Given the description of an element on the screen output the (x, y) to click on. 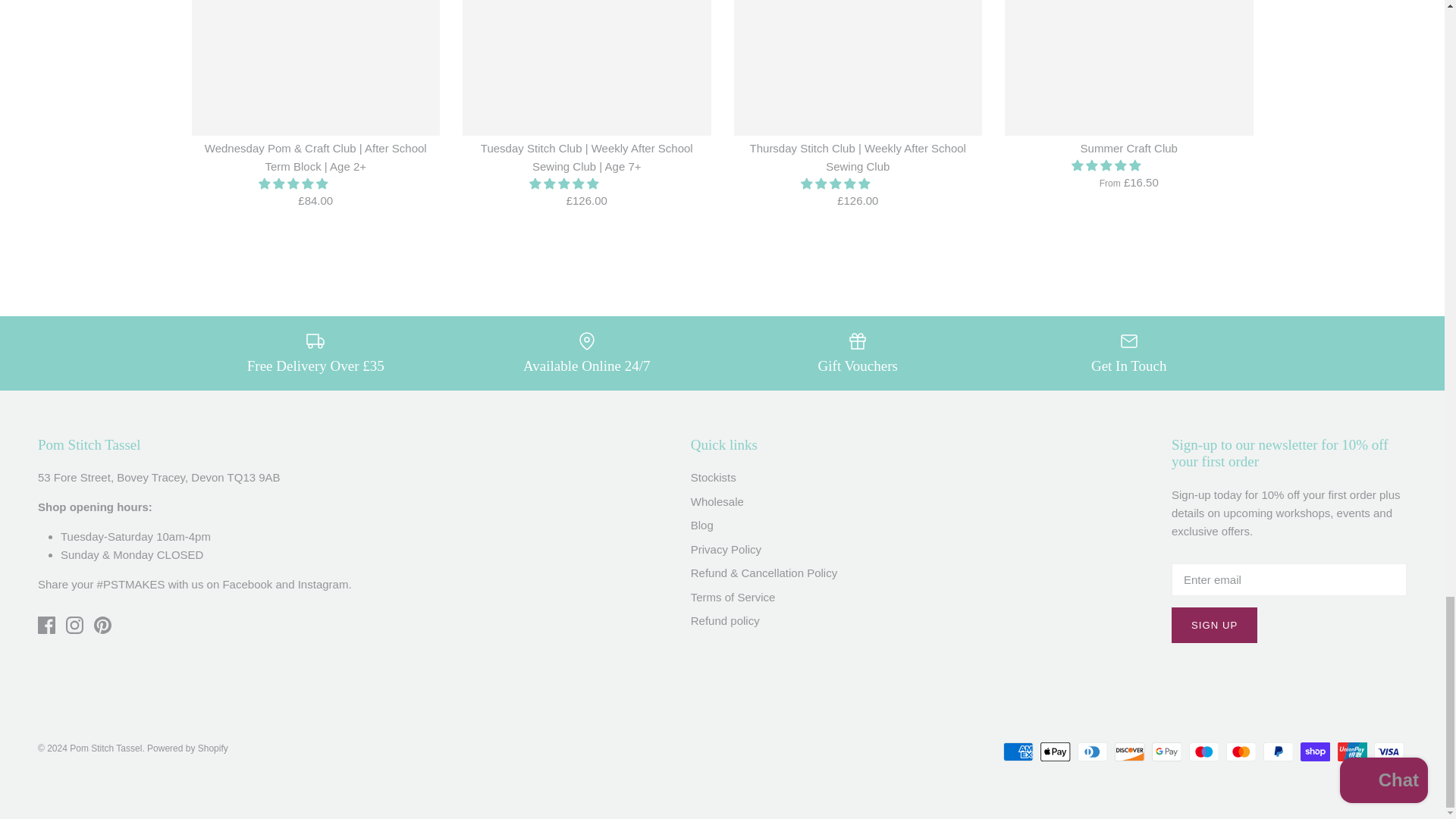
Instagram (73, 624)
Pinterest (103, 624)
Diners Club (1092, 751)
Pom Stitch Tassel Facebook (247, 584)
American Express (1018, 751)
Apple Pay (1055, 751)
Facebook (46, 624)
